Given the description of an element on the screen output the (x, y) to click on. 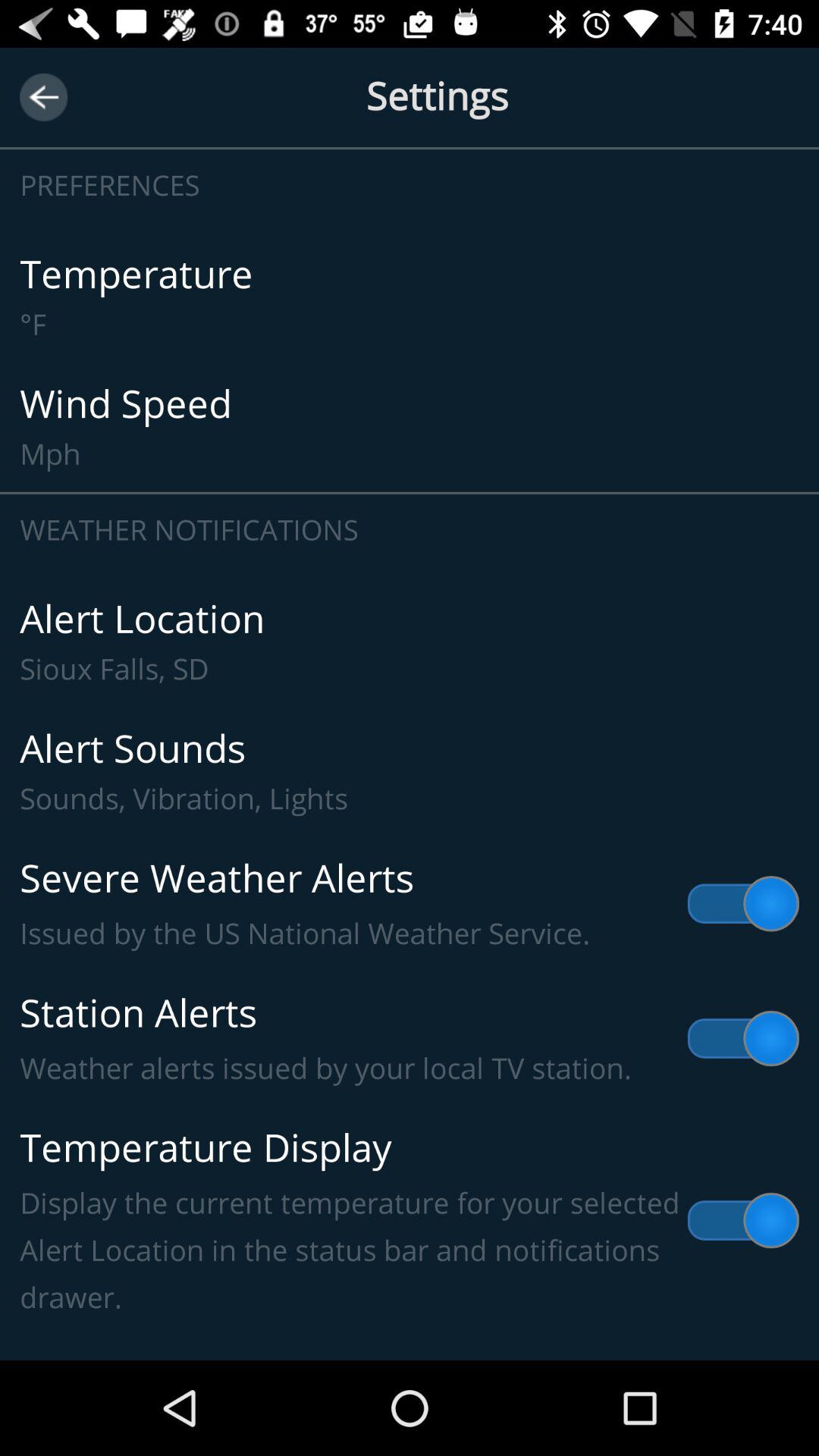
press icon next to the settings (43, 97)
